Given the description of an element on the screen output the (x, y) to click on. 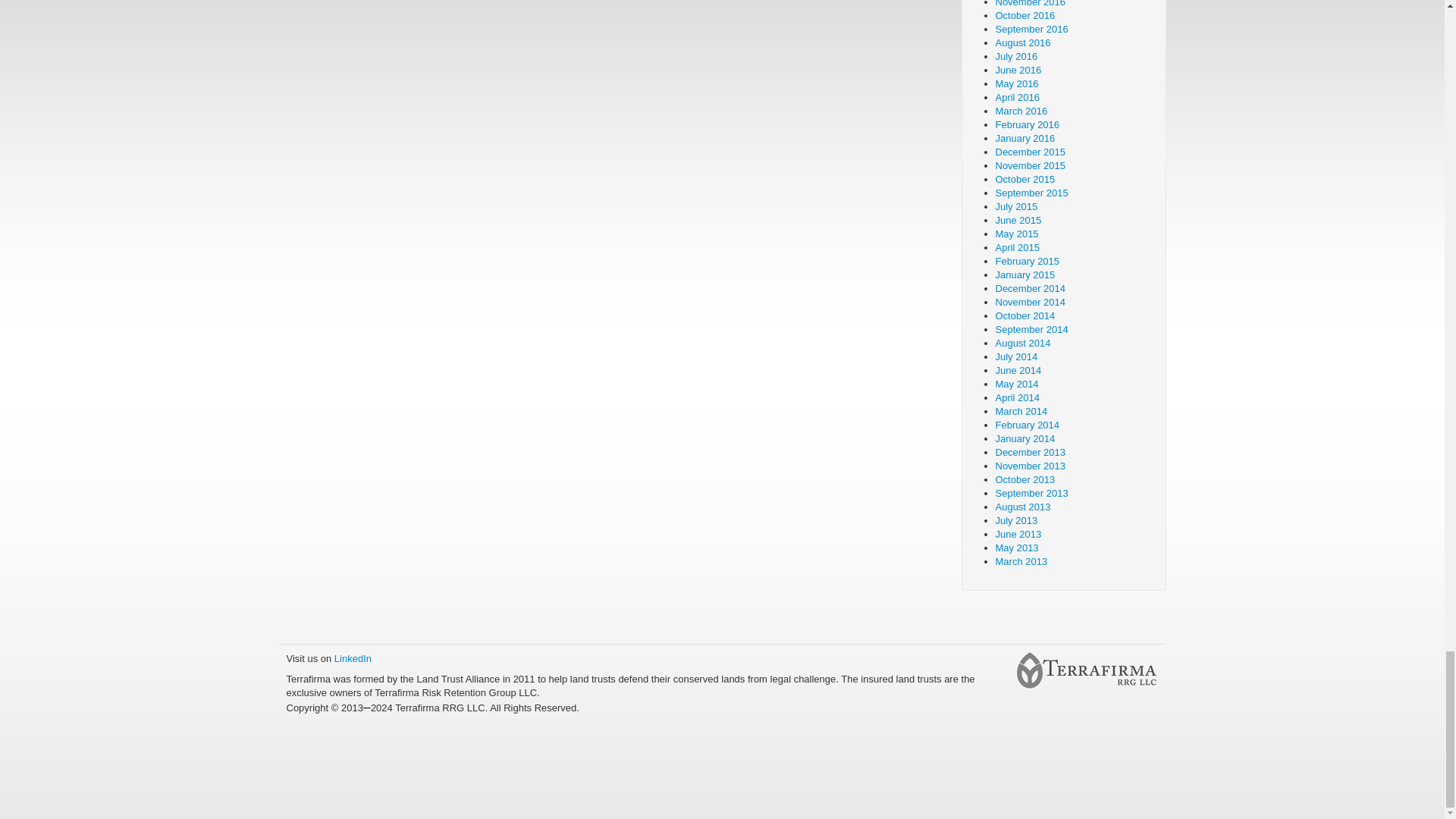
title (1085, 670)
